Given the description of an element on the screen output the (x, y) to click on. 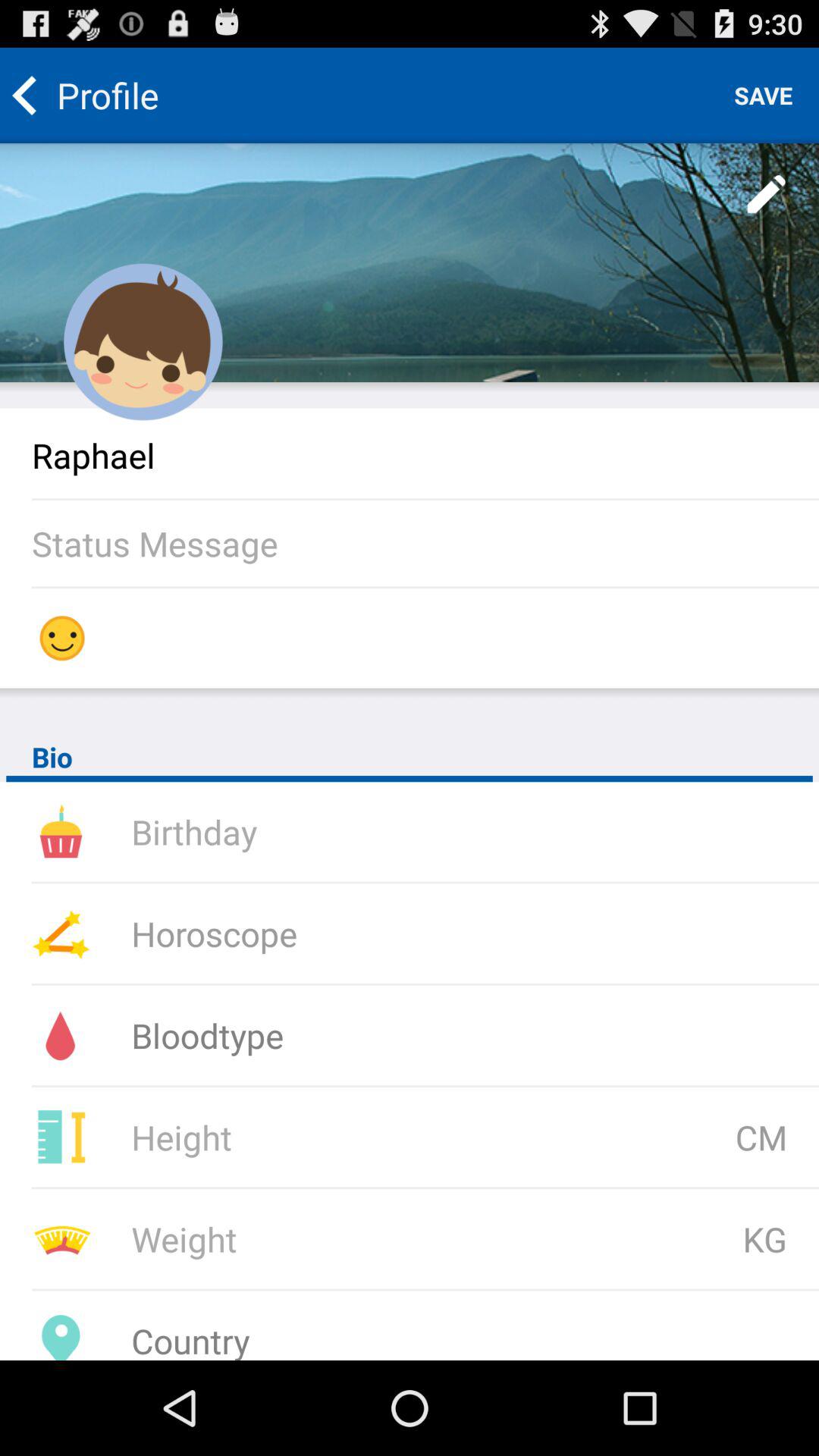
input weight (330, 1238)
